Given the description of an element on the screen output the (x, y) to click on. 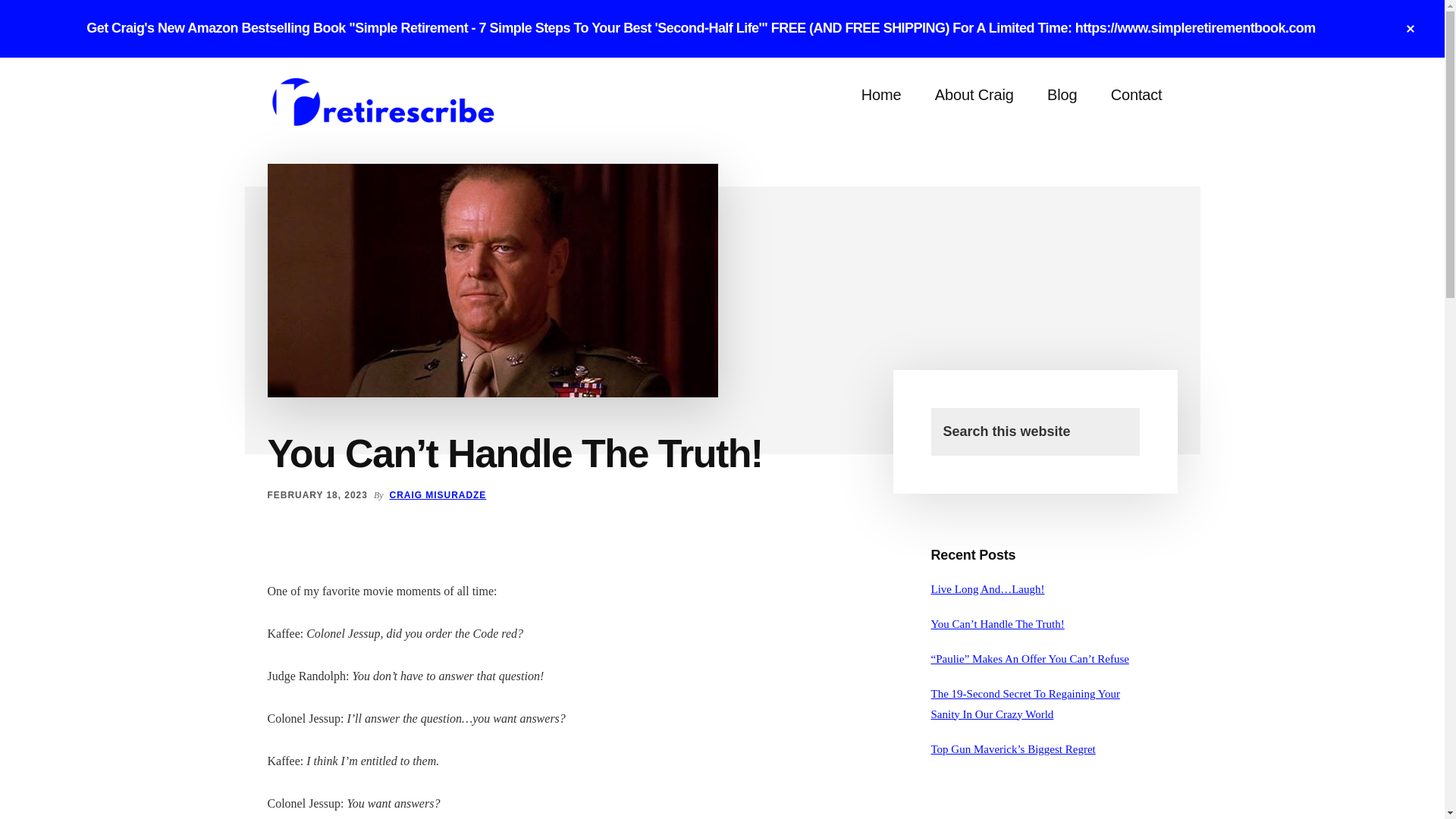
Home (881, 94)
About Craig (974, 94)
CRAIG MISURADZE (438, 494)
Contact (1136, 94)
retirescribe.com (380, 102)
